Given the description of an element on the screen output the (x, y) to click on. 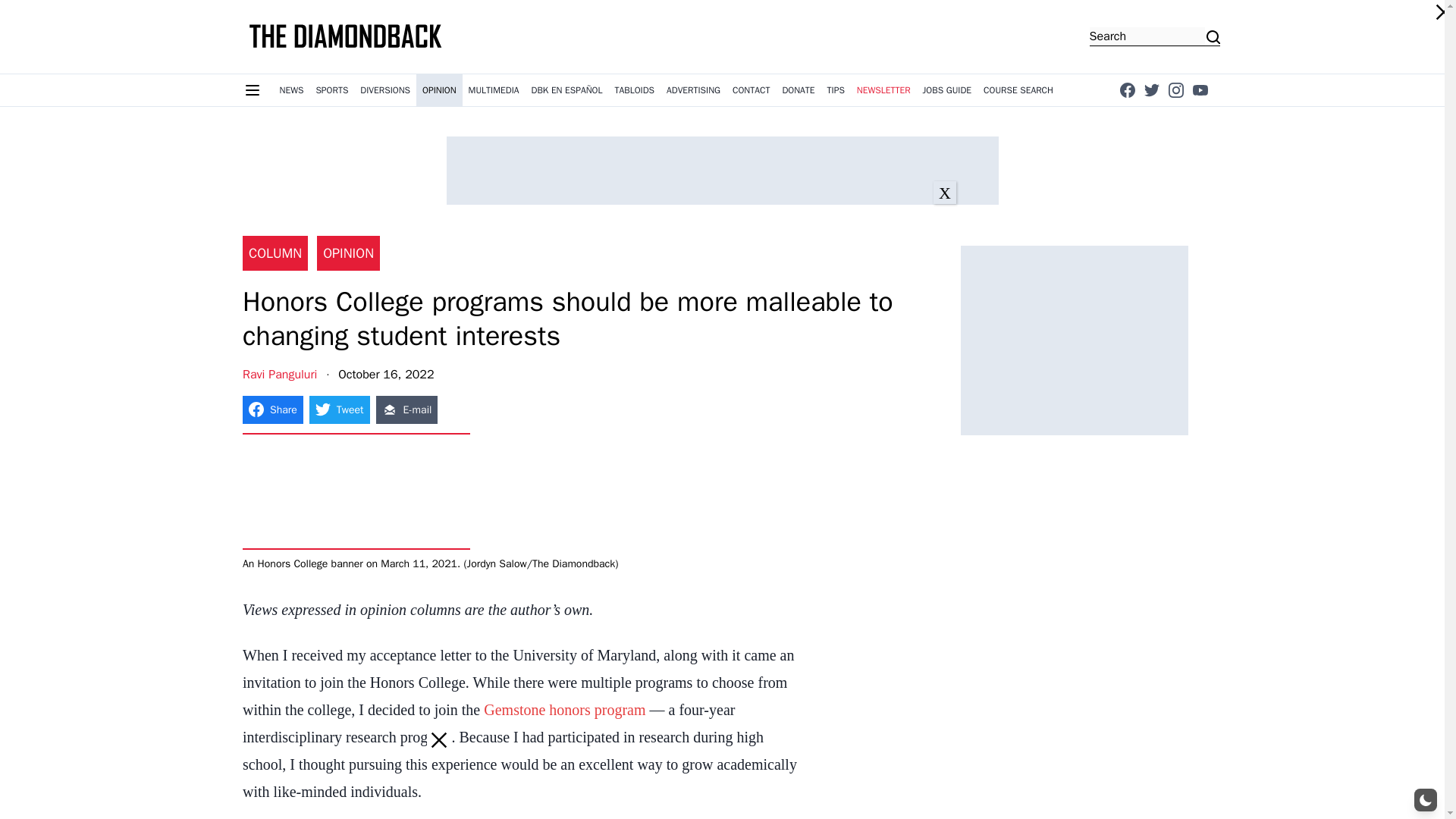
Diversions (384, 90)
COURSE SEARCH (1017, 90)
Donate (798, 90)
NEWS (290, 90)
Sports (330, 90)
CONTACT (751, 90)
DONATE (798, 90)
News (290, 90)
TABLOIDS (634, 90)
Tips (835, 90)
